Given the description of an element on the screen output the (x, y) to click on. 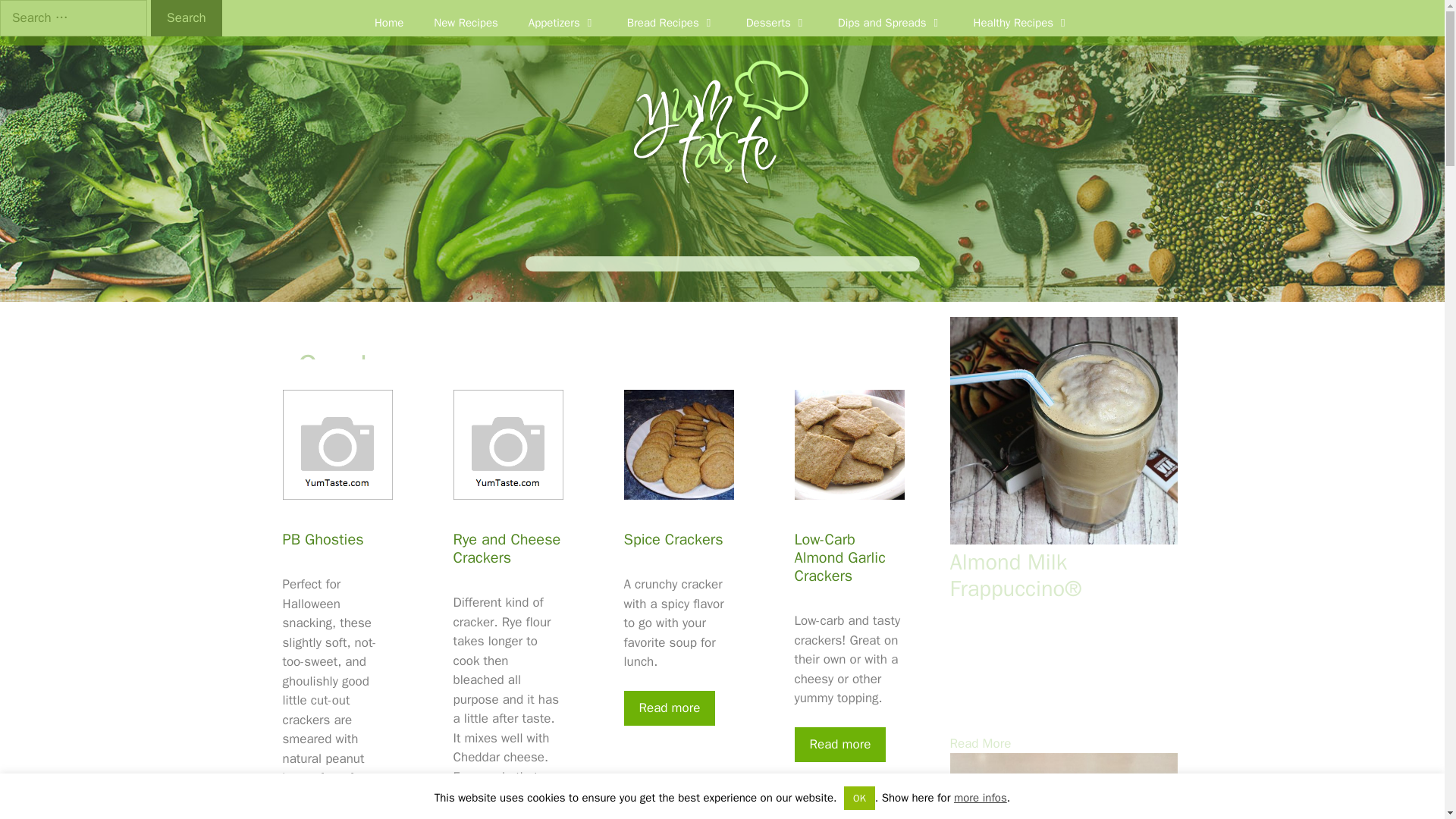
Yum Taste (721, 123)
Home (389, 22)
Search (186, 18)
Appetizers (562, 22)
Low-Carb Almond Garlic Crackers (840, 744)
Search for: (73, 18)
Yum Taste (721, 123)
New Recipes (465, 22)
Spice Crackers (668, 708)
Bread Recipes (670, 22)
